Given the description of an element on the screen output the (x, y) to click on. 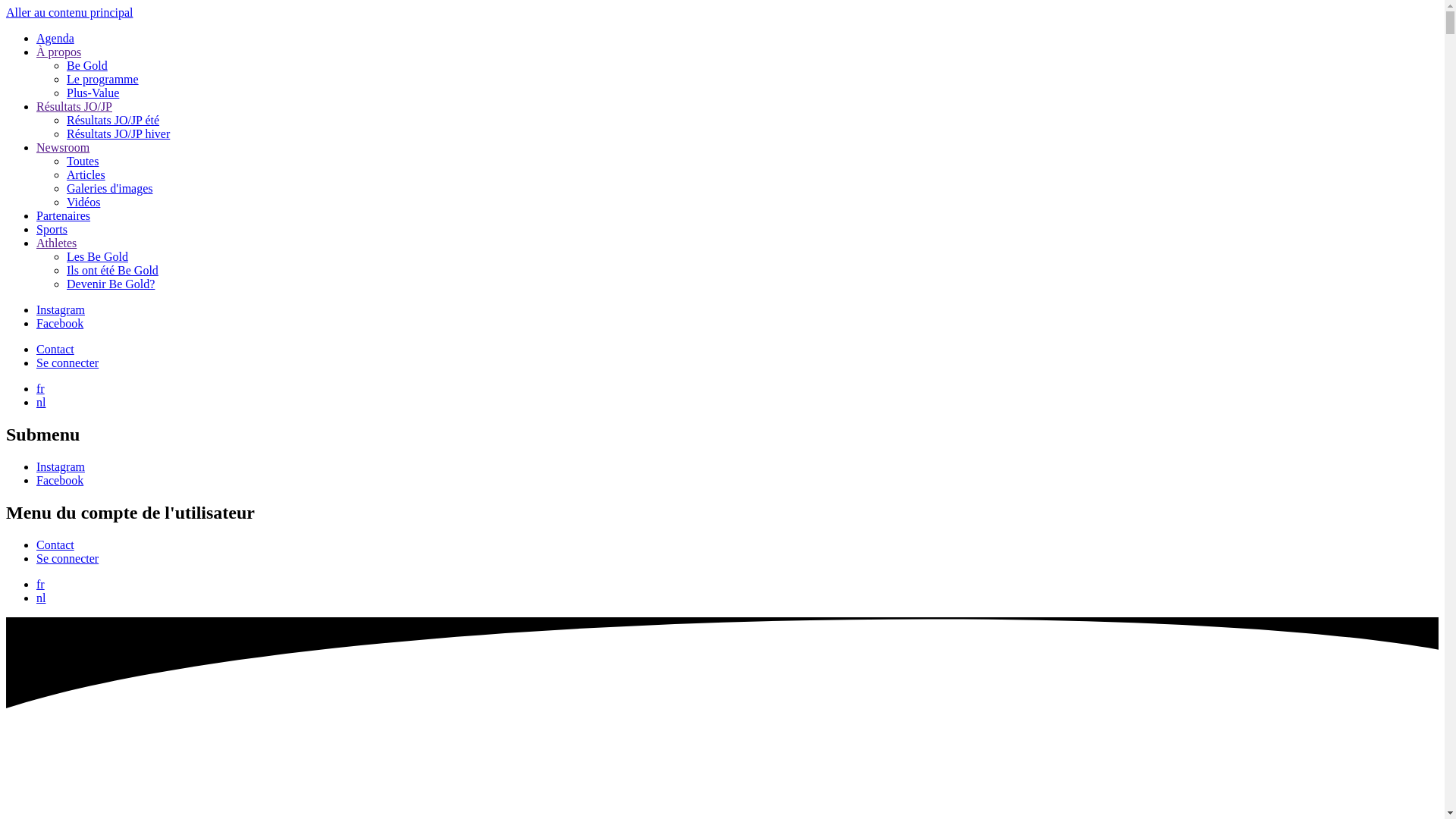
Instagram Element type: text (60, 309)
Contact Element type: text (55, 348)
Se connecter Element type: text (67, 362)
Plus-Value Element type: text (92, 92)
Aller au contenu principal Element type: text (69, 12)
Newsroom Element type: text (62, 147)
Instagram Element type: text (60, 466)
Partenaires Element type: text (63, 215)
Contact Element type: text (55, 544)
Sports Element type: text (51, 228)
Agenda Element type: text (55, 37)
nl Element type: text (40, 401)
Se connecter Element type: text (67, 558)
Athletes Element type: text (56, 242)
Facebook Element type: text (59, 322)
Les Be Gold Element type: text (97, 256)
Facebook Element type: text (59, 479)
fr Element type: text (40, 583)
Be Gold Element type: text (86, 65)
Devenir Be Gold? Element type: text (110, 283)
nl Element type: text (40, 597)
Articles Element type: text (85, 174)
Toutes Element type: text (82, 160)
Galeries d'images Element type: text (109, 188)
Le programme Element type: text (102, 78)
fr Element type: text (40, 388)
